Given the description of an element on the screen output the (x, y) to click on. 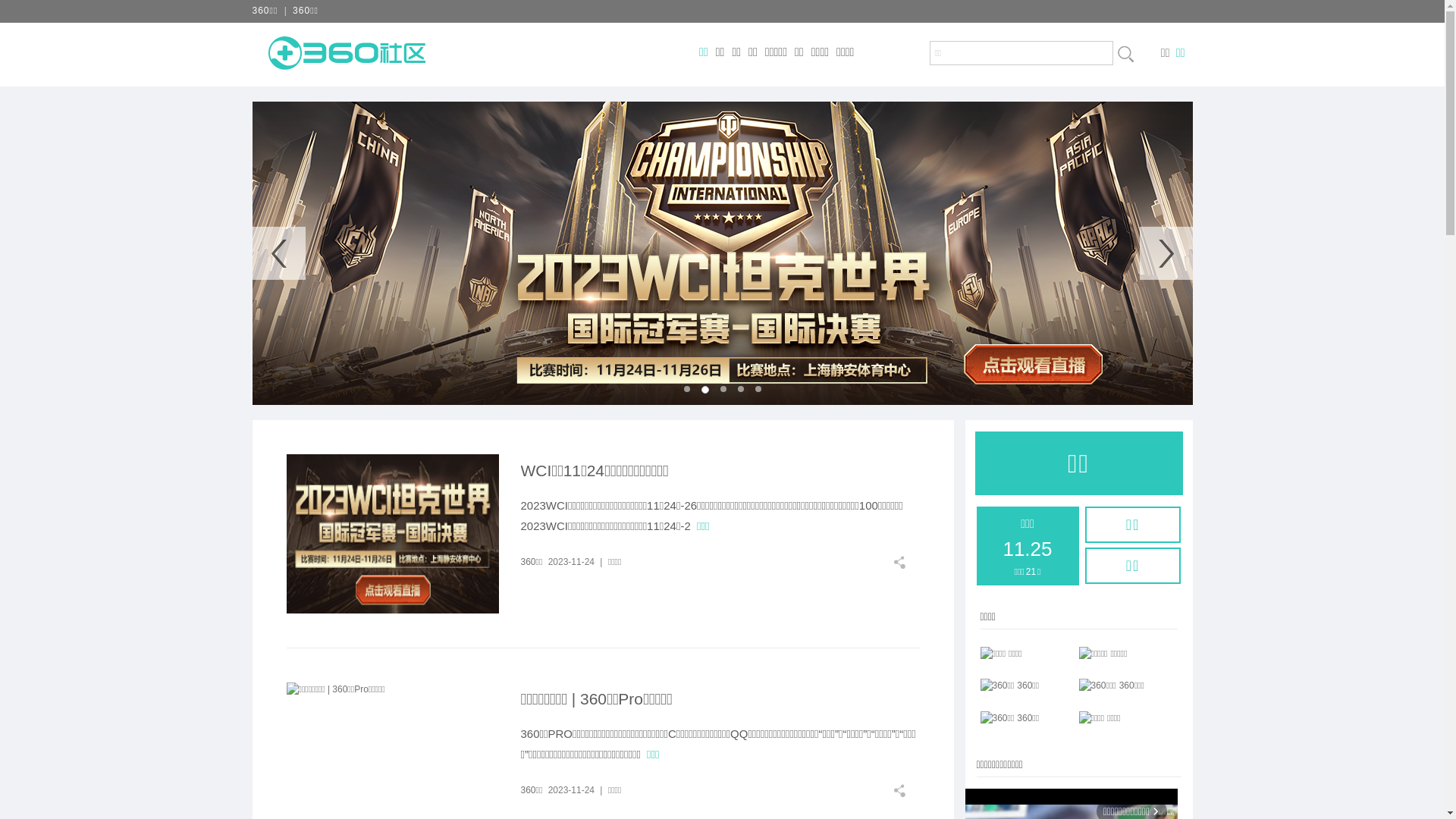
  Element type: text (905, 562)
  Element type: text (1125, 53)
  Element type: text (905, 790)
